Given the description of an element on the screen output the (x, y) to click on. 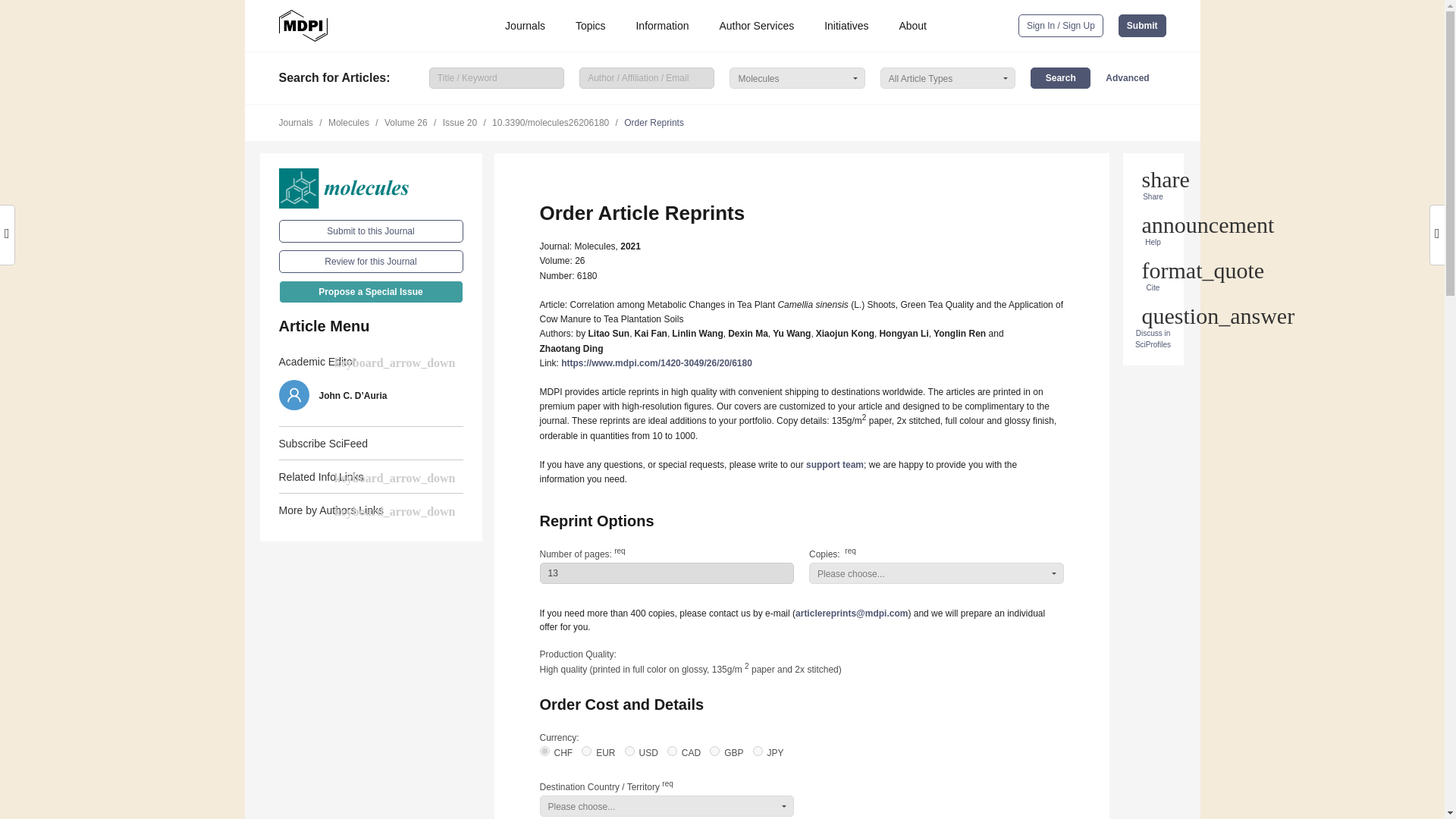
Search (1060, 77)
USD (629, 750)
EUR (585, 750)
13 (667, 572)
CAD (671, 750)
JPY (757, 750)
CHF (545, 750)
MDPI Open Access Journals (303, 25)
Search (1060, 77)
Molecules (371, 188)
GBP (714, 750)
